Given the description of an element on the screen output the (x, y) to click on. 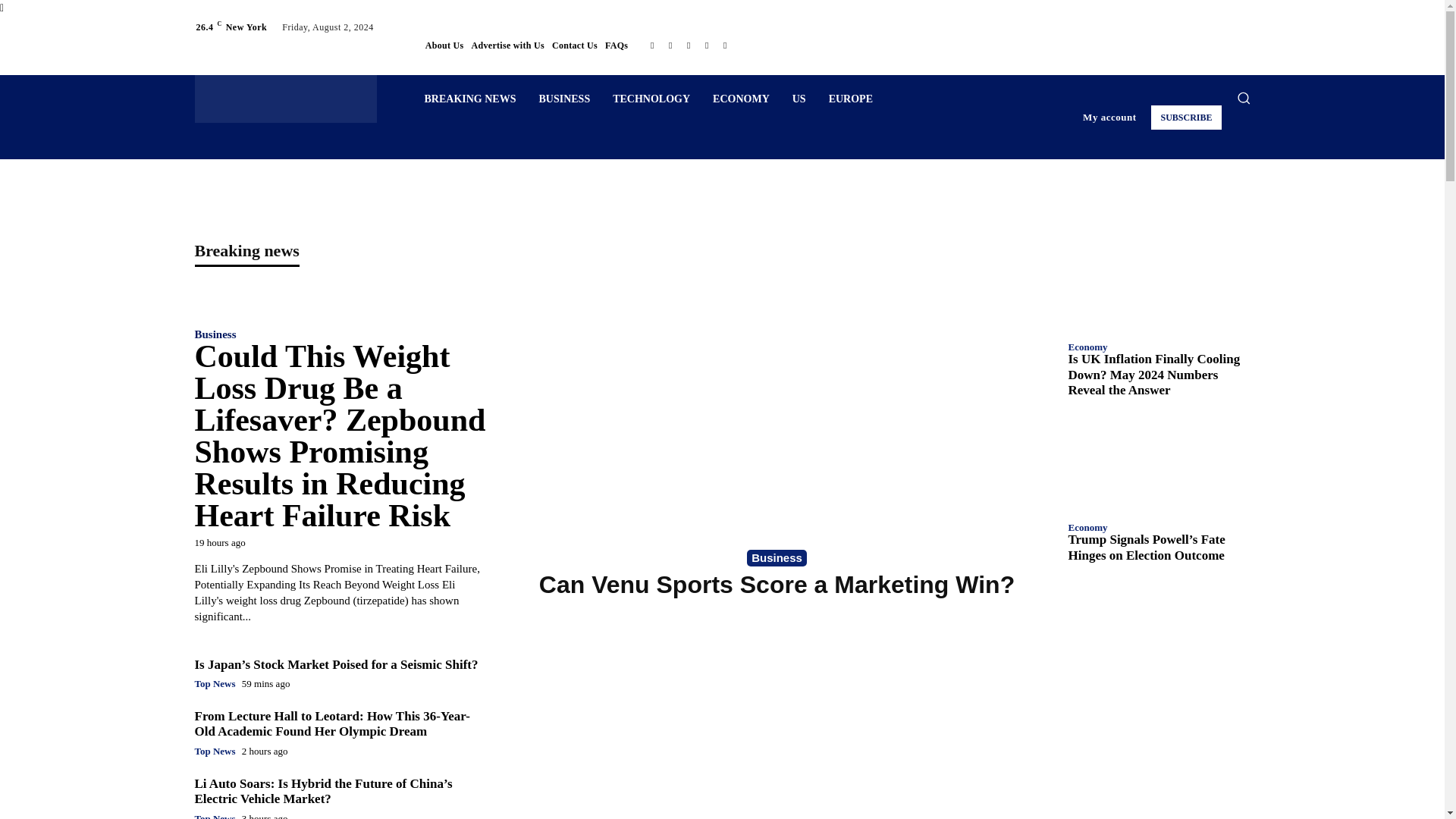
Subscribe (1186, 116)
EUROPE (849, 99)
Advertise with Us (507, 45)
SUBSCRIBE (1186, 116)
Twitter (706, 45)
Website (724, 45)
RSS (688, 45)
ECONOMY (740, 99)
Medium (670, 45)
BREAKING NEWS (469, 99)
Facebook (652, 45)
TECHNOLOGY (651, 99)
Contact Us (573, 45)
BUSINESS (564, 99)
About Us (444, 45)
